Given the description of an element on the screen output the (x, y) to click on. 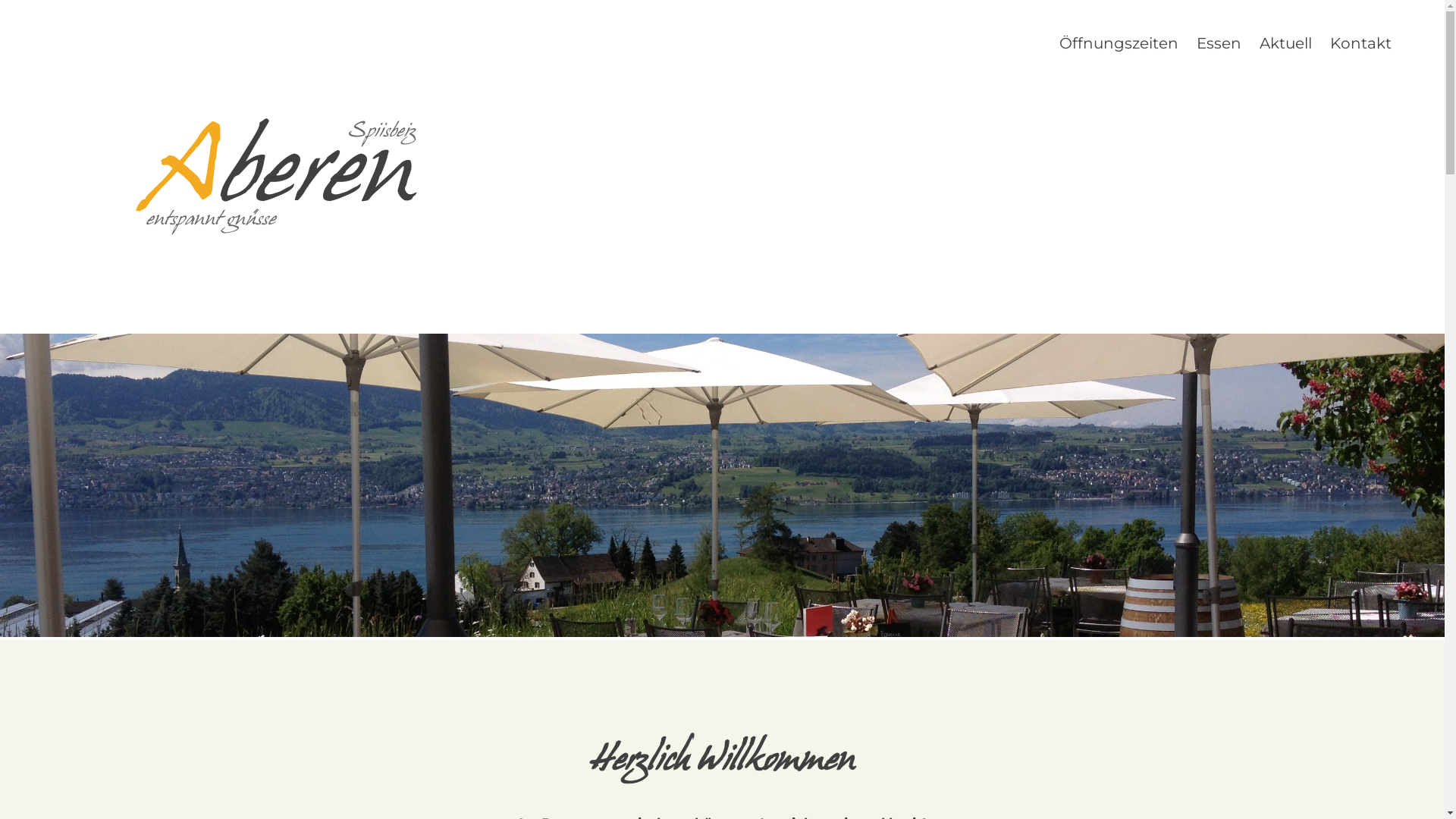
Kontakt Element type: text (1360, 131)
Essen Element type: text (1218, 131)
Aktuell Element type: text (1285, 131)
